Given the description of an element on the screen output the (x, y) to click on. 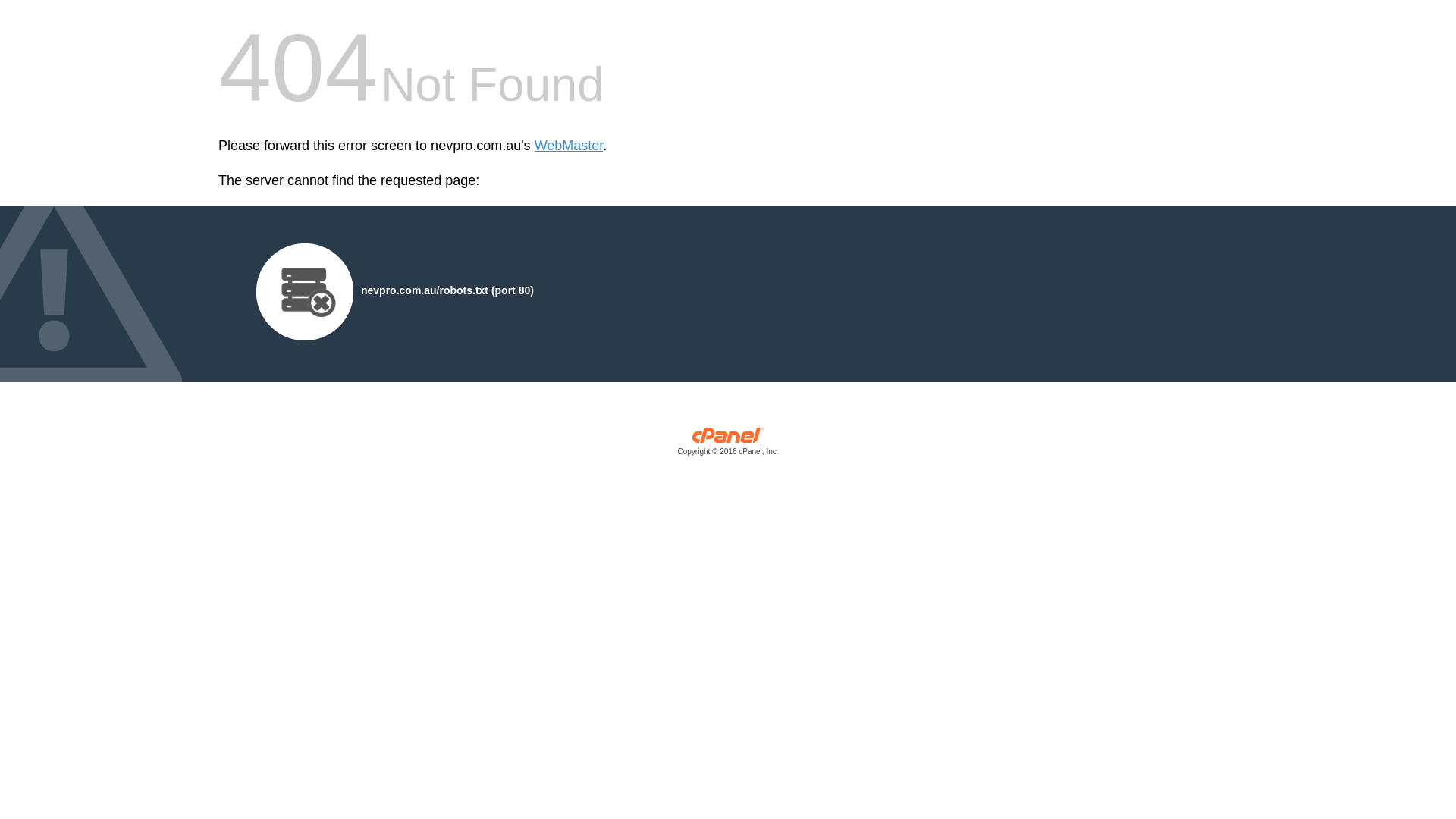
WebMaster Element type: text (568, 145)
